Given the description of an element on the screen output the (x, y) to click on. 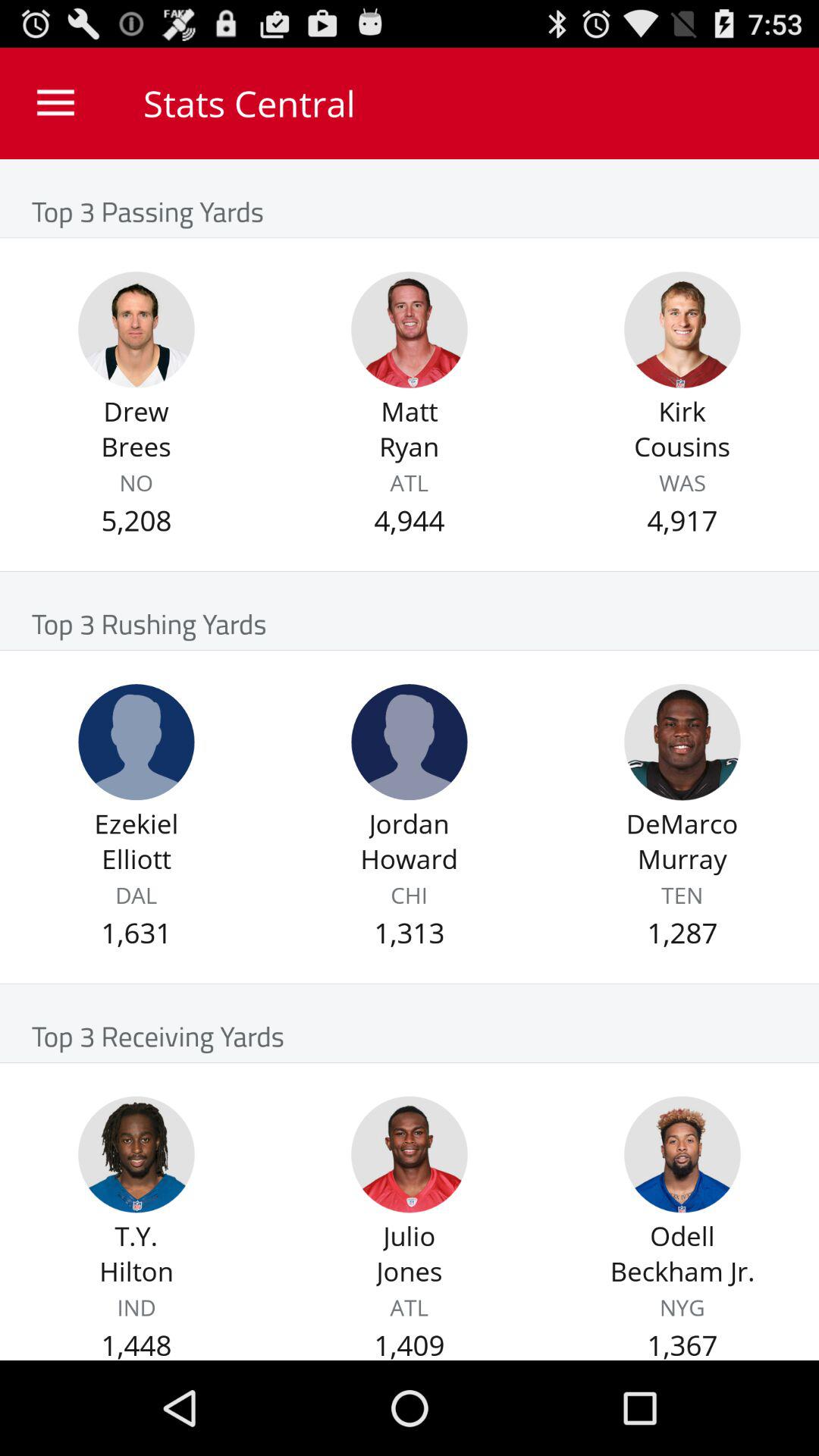
view player profile (136, 329)
